Given the description of an element on the screen output the (x, y) to click on. 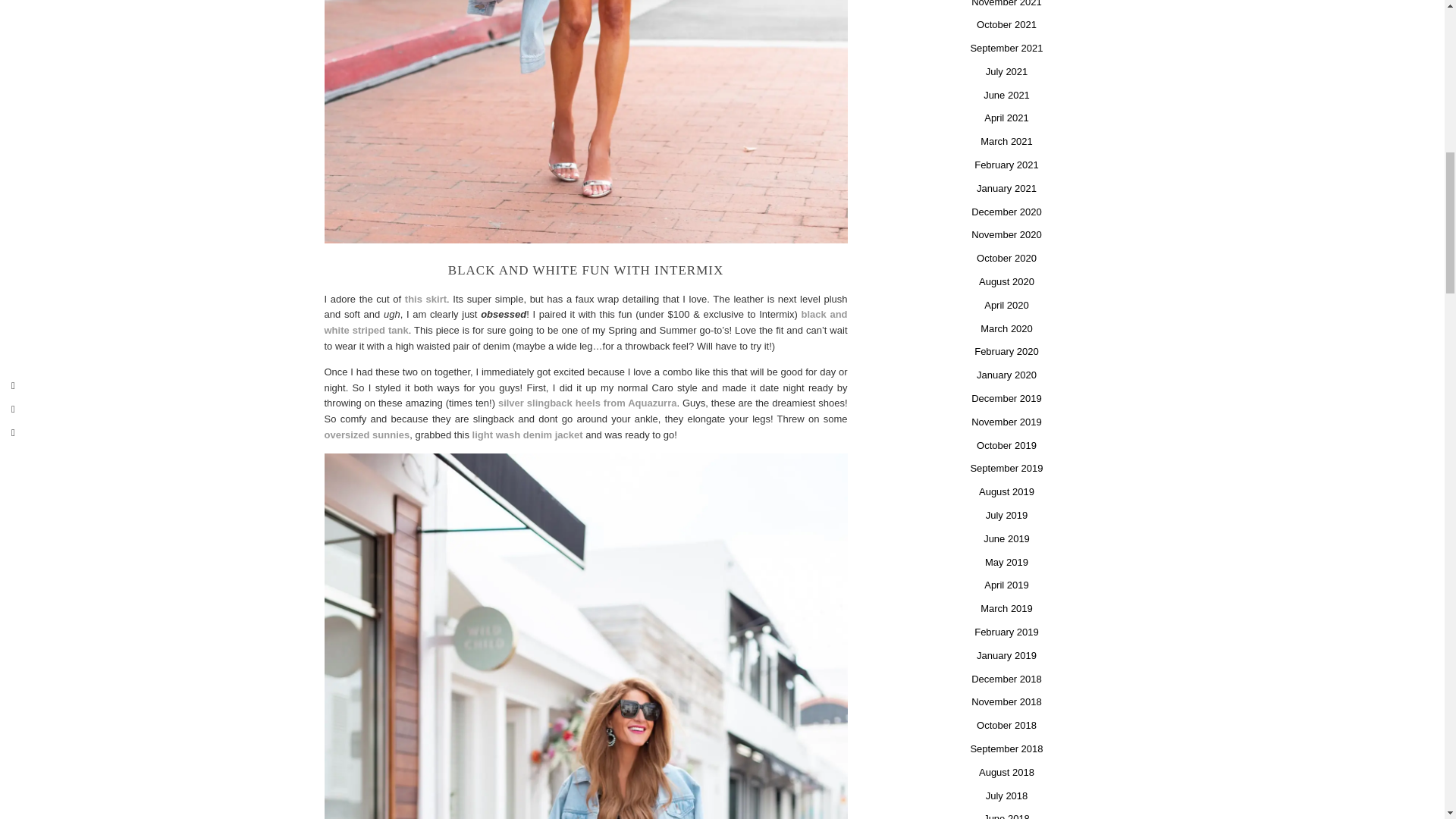
light wash denim jacket (525, 434)
silver slingback heels from Aquazurra (587, 402)
this skirt (425, 298)
black and white striped tank (585, 321)
oversized sunnies (367, 434)
